Given the description of an element on the screen output the (x, y) to click on. 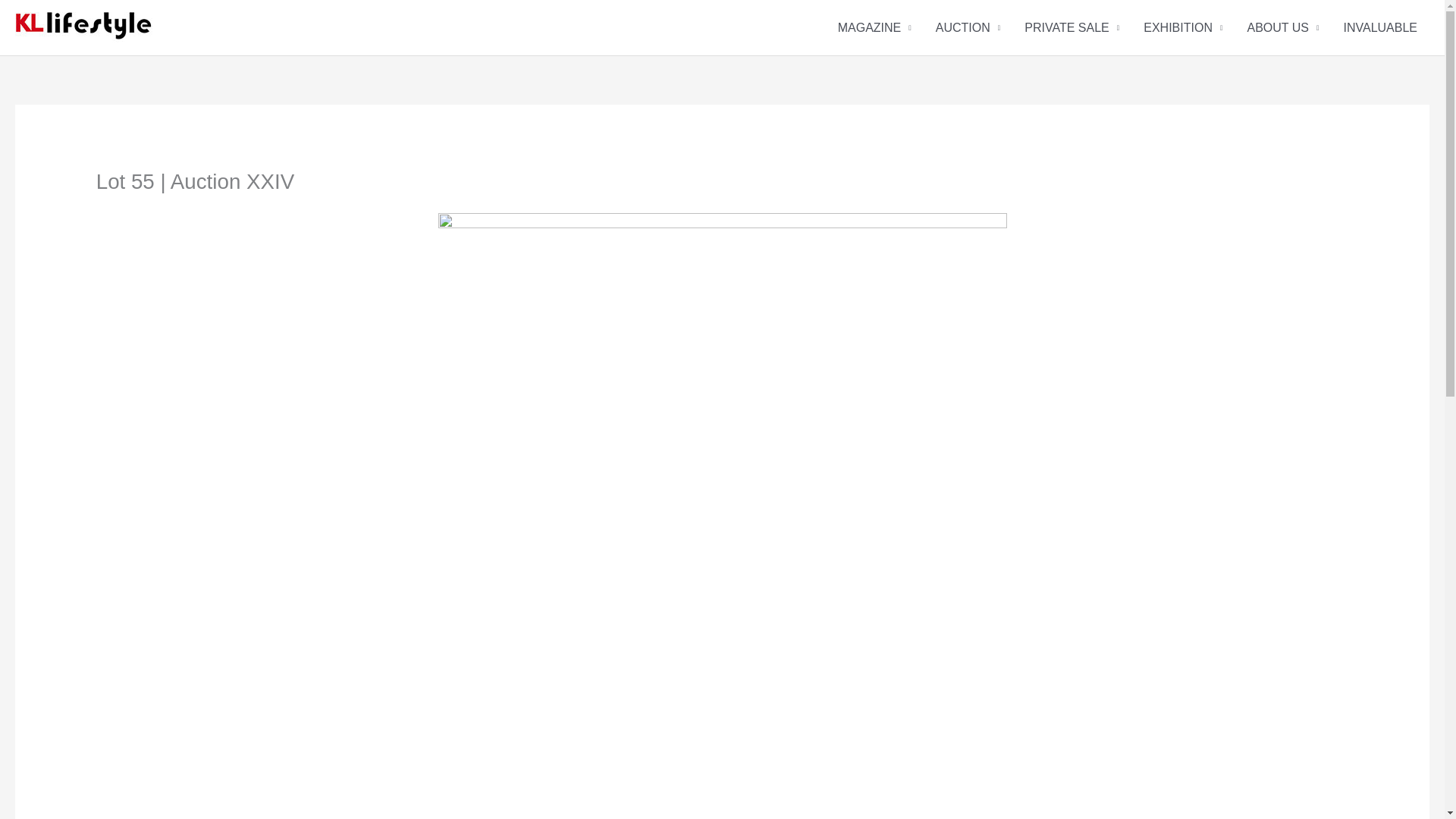
AUCTION (968, 27)
INVALUABLE (1379, 27)
MAGAZINE (874, 27)
EXHIBITION (1182, 27)
ABOUT US (1282, 27)
PRIVATE SALE (1071, 27)
